Given the description of an element on the screen output the (x, y) to click on. 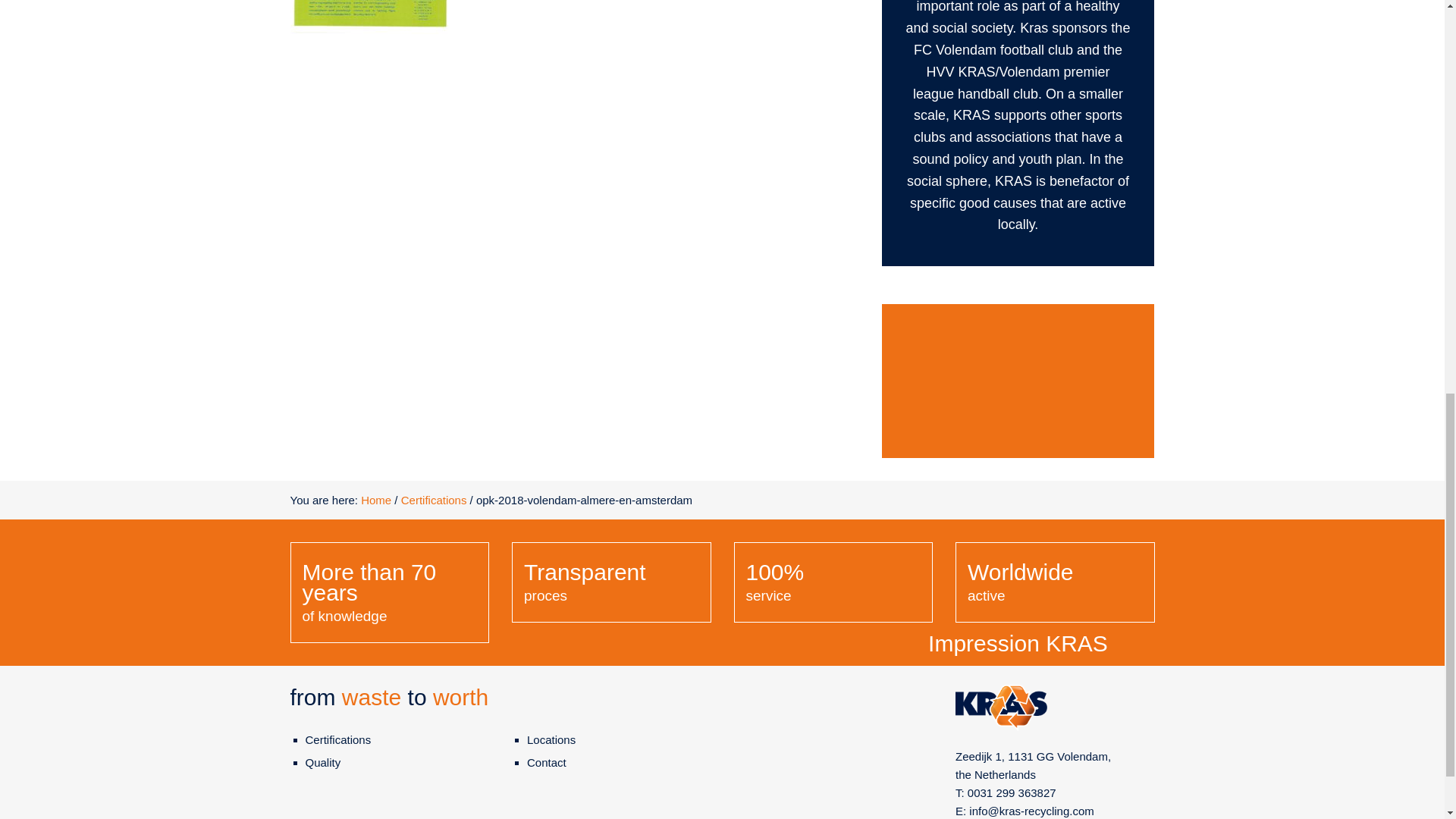
Certifications (337, 739)
Contact (546, 762)
Kras Recycling B.V. 2022 (1017, 380)
Quality (322, 762)
0031 299 363827 (1012, 792)
Impression KRAS (1017, 504)
Home (376, 499)
Certifications (434, 499)
Locations (551, 739)
